Given the description of an element on the screen output the (x, y) to click on. 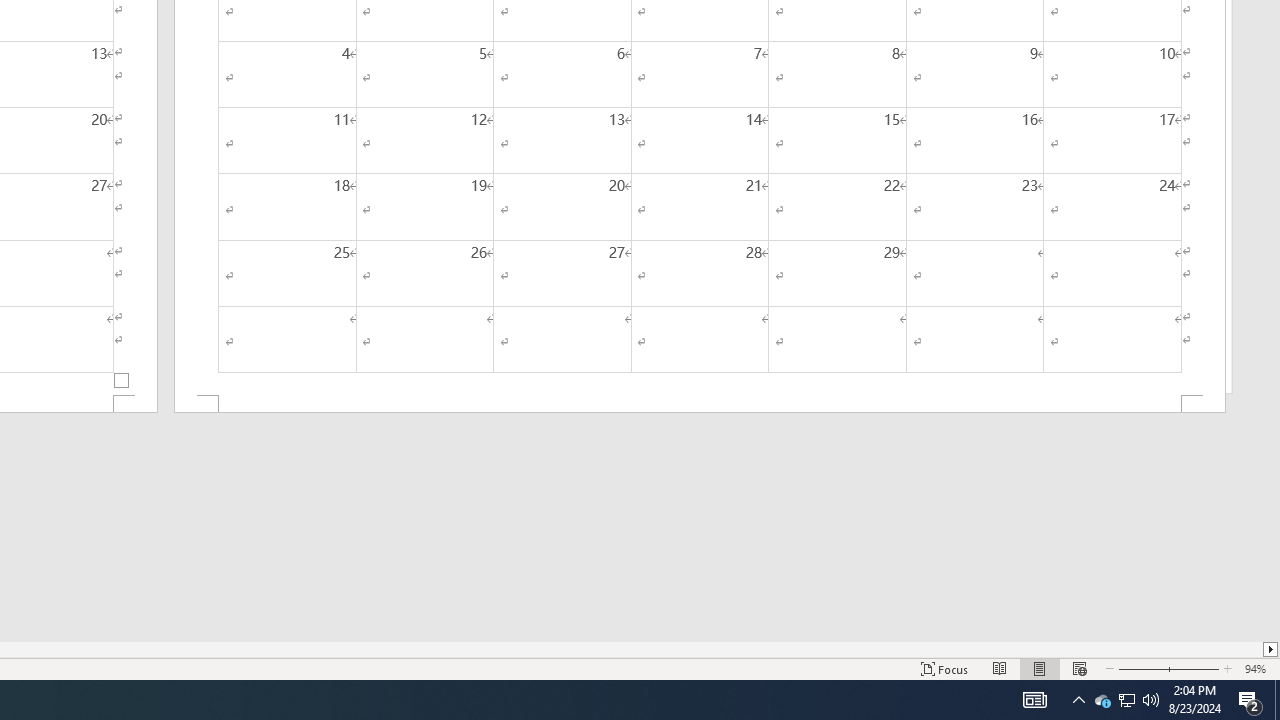
Web Layout (1079, 668)
Column right (1271, 649)
Footer -Section 2- (700, 404)
Print Layout (1039, 668)
Zoom Out (1140, 668)
Focus  (944, 668)
Read Mode (1000, 668)
Zoom In (1193, 668)
